Given the description of an element on the screen output the (x, y) to click on. 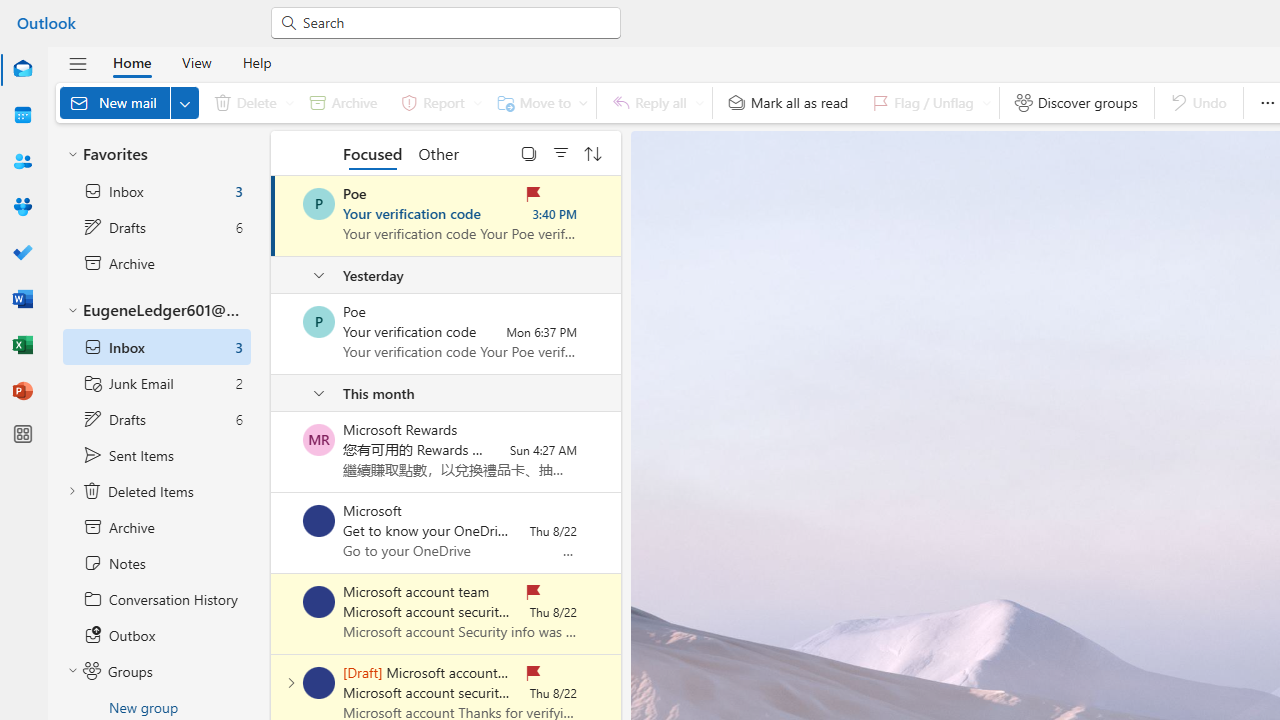
Drafts 6 items (156, 419)
Other (438, 152)
Expand to see more New options (184, 102)
Deleted Items (156, 491)
Groups (22, 207)
Hide navigation pane (77, 63)
System (10, 11)
PowerPoint (22, 391)
Undo (1198, 102)
Select (529, 152)
Mark as unread (273, 613)
Word (22, 299)
Help (256, 61)
Sent Items (156, 455)
